Given the description of an element on the screen output the (x, y) to click on. 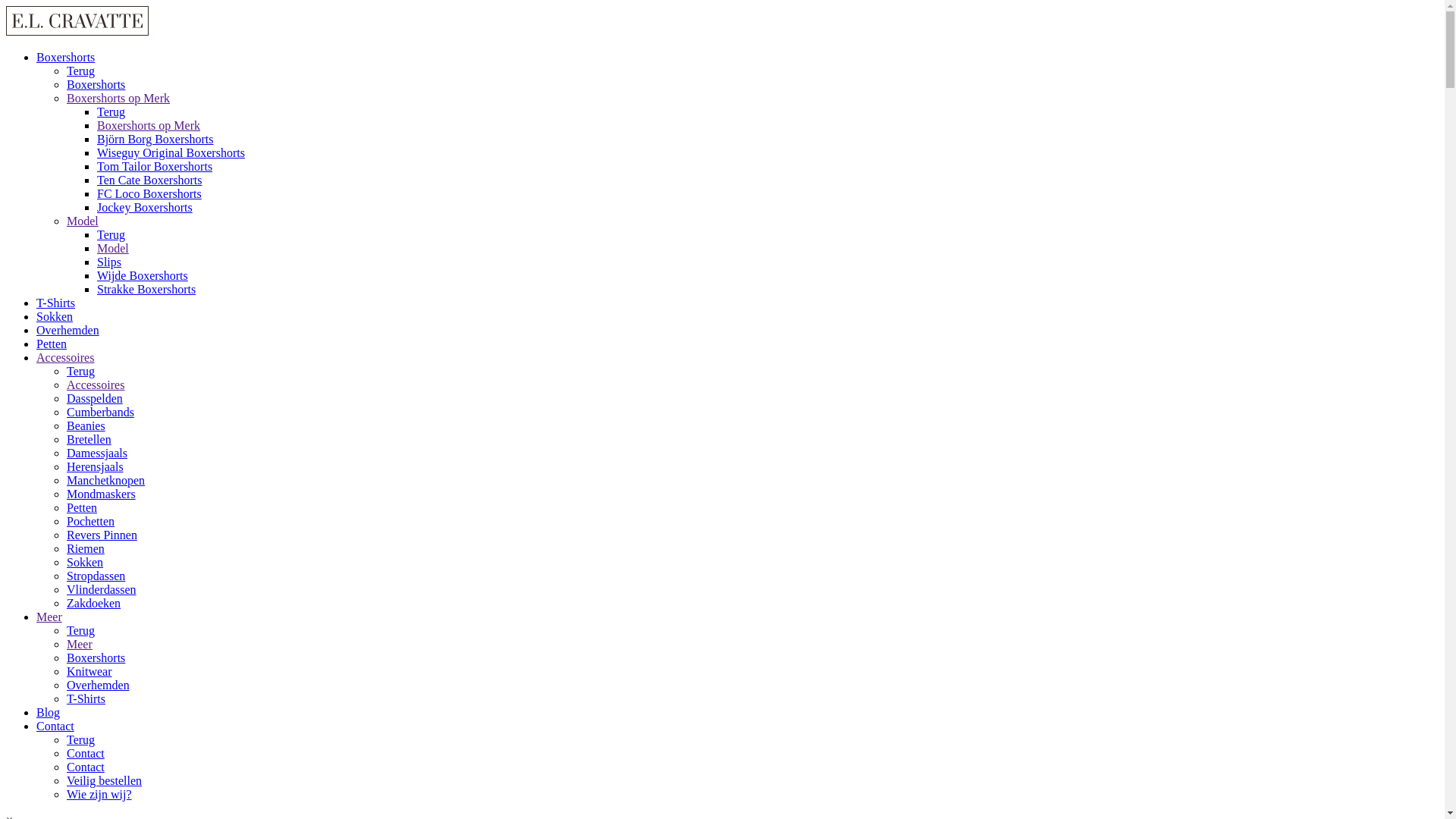
Contact Element type: text (85, 752)
Accessoires Element type: text (95, 384)
Riemen Element type: text (85, 548)
Terug Element type: text (80, 630)
Terug Element type: text (111, 234)
Bretellen Element type: text (88, 439)
Beanies Element type: text (85, 425)
T-Shirts Element type: text (55, 302)
Wie zijn wij? Element type: text (98, 793)
Tom Tailor Boxershorts Element type: text (154, 166)
Mondmaskers Element type: text (100, 493)
Manchetknopen Element type: text (105, 479)
Model Element type: text (112, 247)
Accessoires Element type: text (65, 357)
Revers Pinnen Element type: text (101, 534)
Meer Element type: text (49, 616)
Herensjaals Element type: text (94, 466)
Overhemden Element type: text (67, 329)
Petten Element type: text (51, 343)
Overhemden Element type: text (97, 684)
Strakke Boxershorts Element type: text (146, 288)
T-Shirts Element type: text (85, 698)
Sokken Element type: text (54, 316)
Terug Element type: text (80, 370)
Sokken Element type: text (84, 561)
Knitwear Element type: text (89, 671)
Damessjaals Element type: text (96, 452)
Meer Element type: text (79, 643)
Terug Element type: text (80, 739)
Terug Element type: text (80, 70)
Boxershorts Element type: text (65, 56)
Zakdoeken Element type: text (93, 602)
Ten Cate Boxershorts Element type: text (149, 179)
Contact Element type: text (55, 725)
Pochetten Element type: text (90, 520)
Stropdassen Element type: text (95, 575)
Blog Element type: text (47, 712)
Wiseguy Original Boxershorts Element type: text (170, 152)
Veilig bestellen Element type: text (103, 780)
Boxershorts op Merk Element type: text (148, 125)
Slips Element type: text (109, 261)
Wijde Boxershorts Element type: text (142, 275)
Terug Element type: text (111, 111)
Vlinderdassen Element type: text (101, 589)
Dasspelden Element type: text (94, 398)
Cumberbands Element type: text (100, 411)
FC Loco Boxershorts Element type: text (149, 193)
Boxershorts Element type: text (95, 84)
Boxershorts Element type: text (95, 657)
Petten Element type: text (81, 507)
Jockey Boxershorts Element type: text (144, 206)
Contact Element type: text (85, 766)
Boxershorts op Merk Element type: text (117, 97)
Model Element type: text (82, 220)
